Given the description of an element on the screen output the (x, y) to click on. 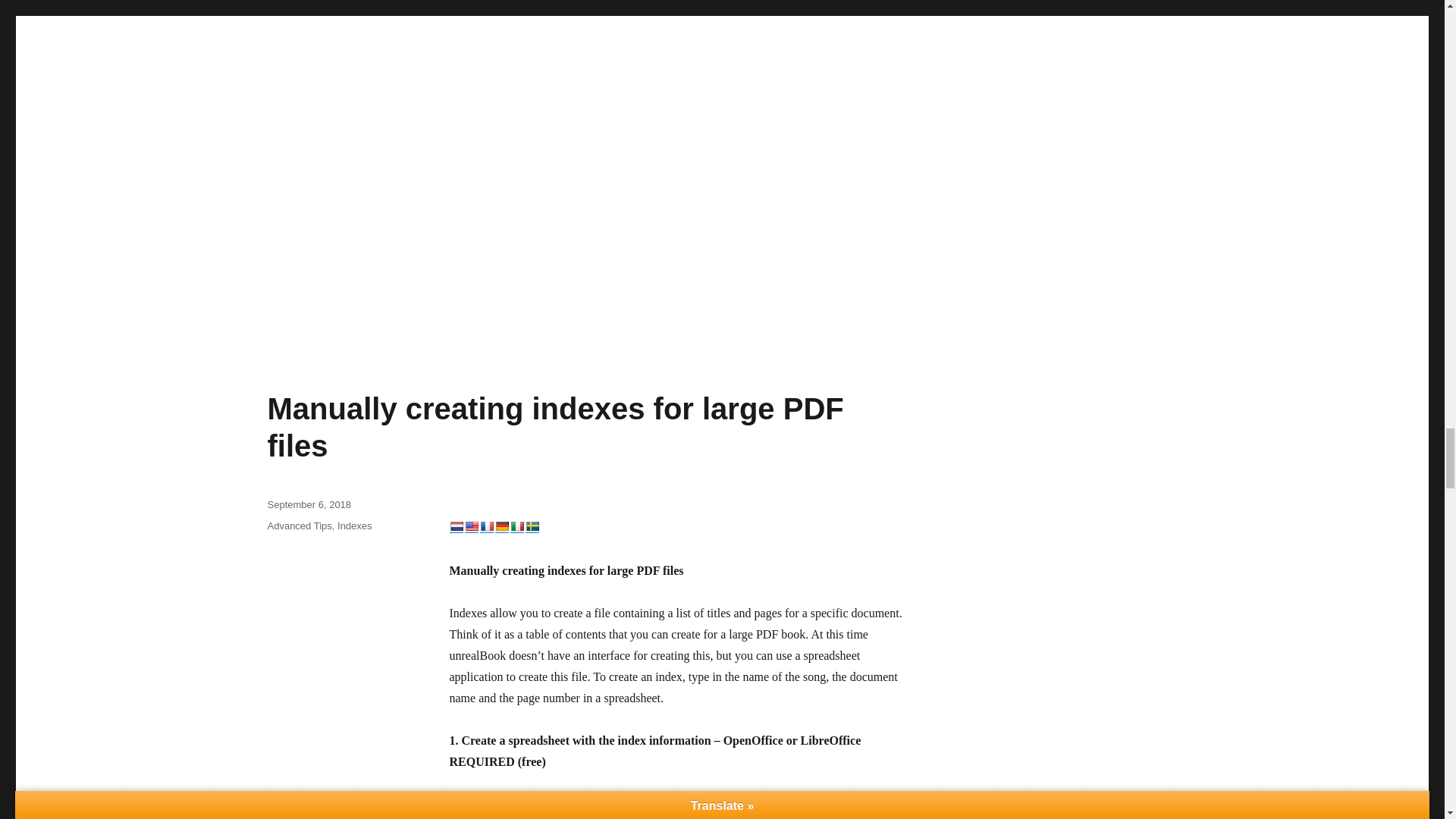
Dutch (455, 526)
German (501, 526)
English (470, 526)
Italian (515, 526)
French (486, 526)
Swedish (531, 526)
